Given the description of an element on the screen output the (x, y) to click on. 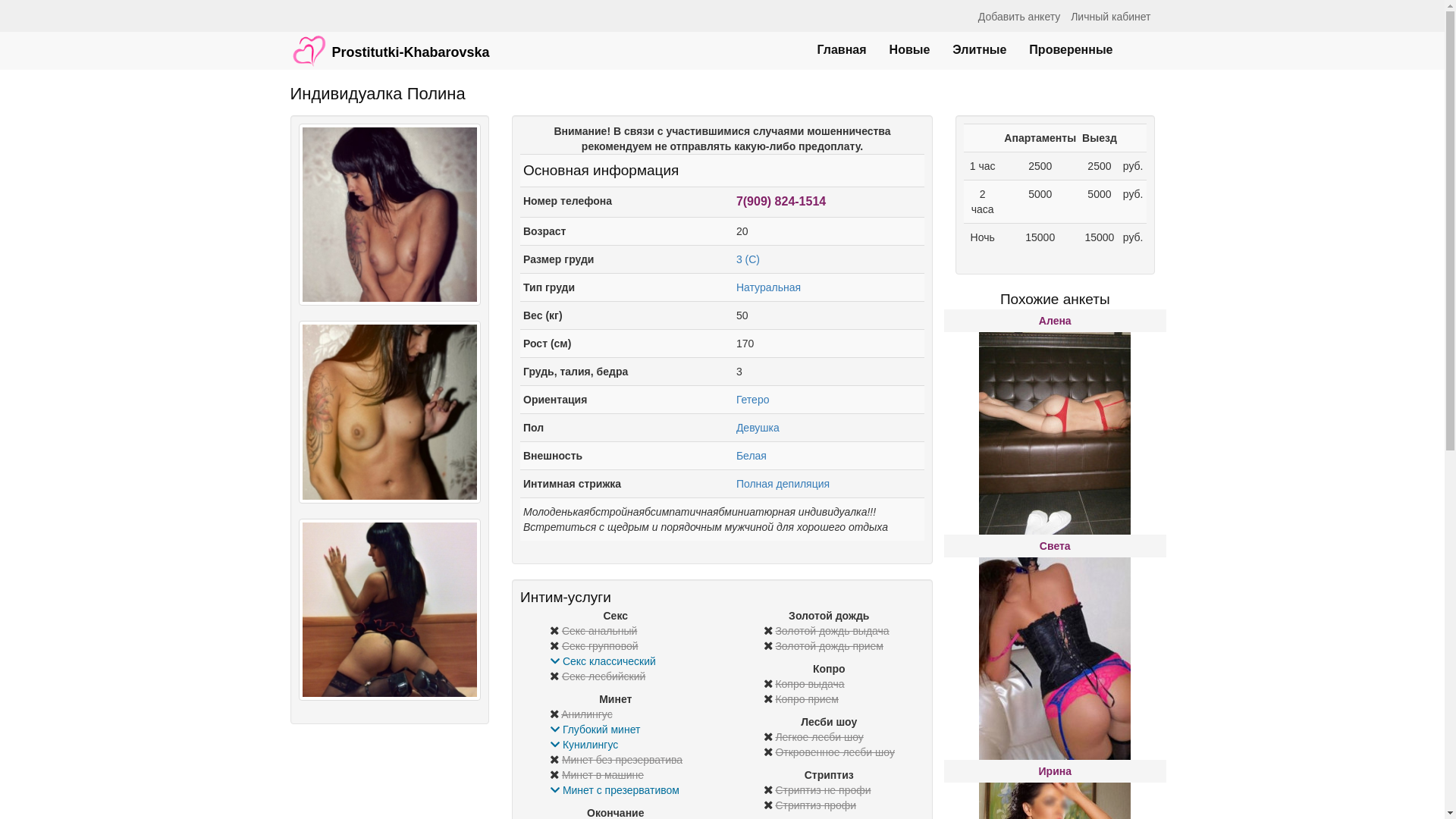
3 (C) Element type: text (747, 259)
Prostitutki-Khabarovska Element type: text (390, 43)
